Given the description of an element on the screen output the (x, y) to click on. 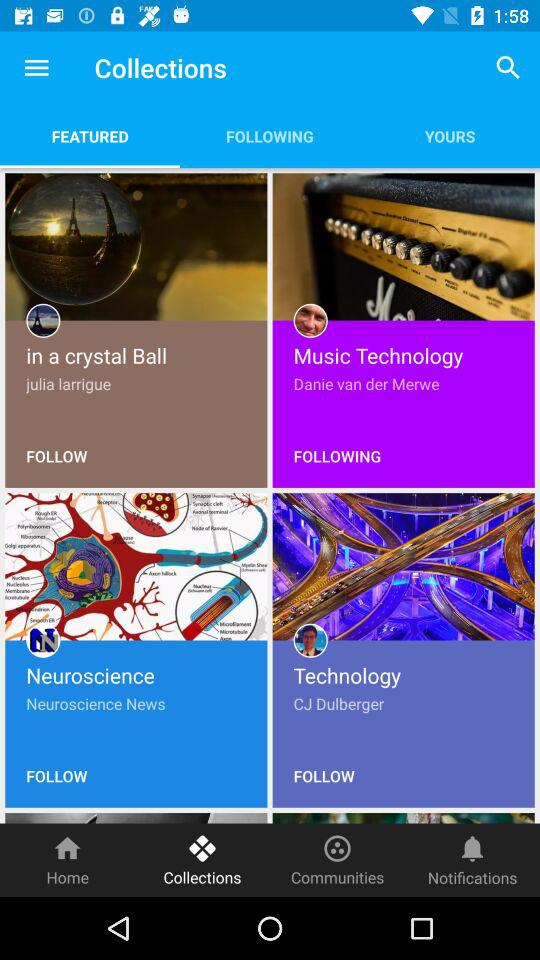
launch communities item (337, 859)
